Given the description of an element on the screen output the (x, y) to click on. 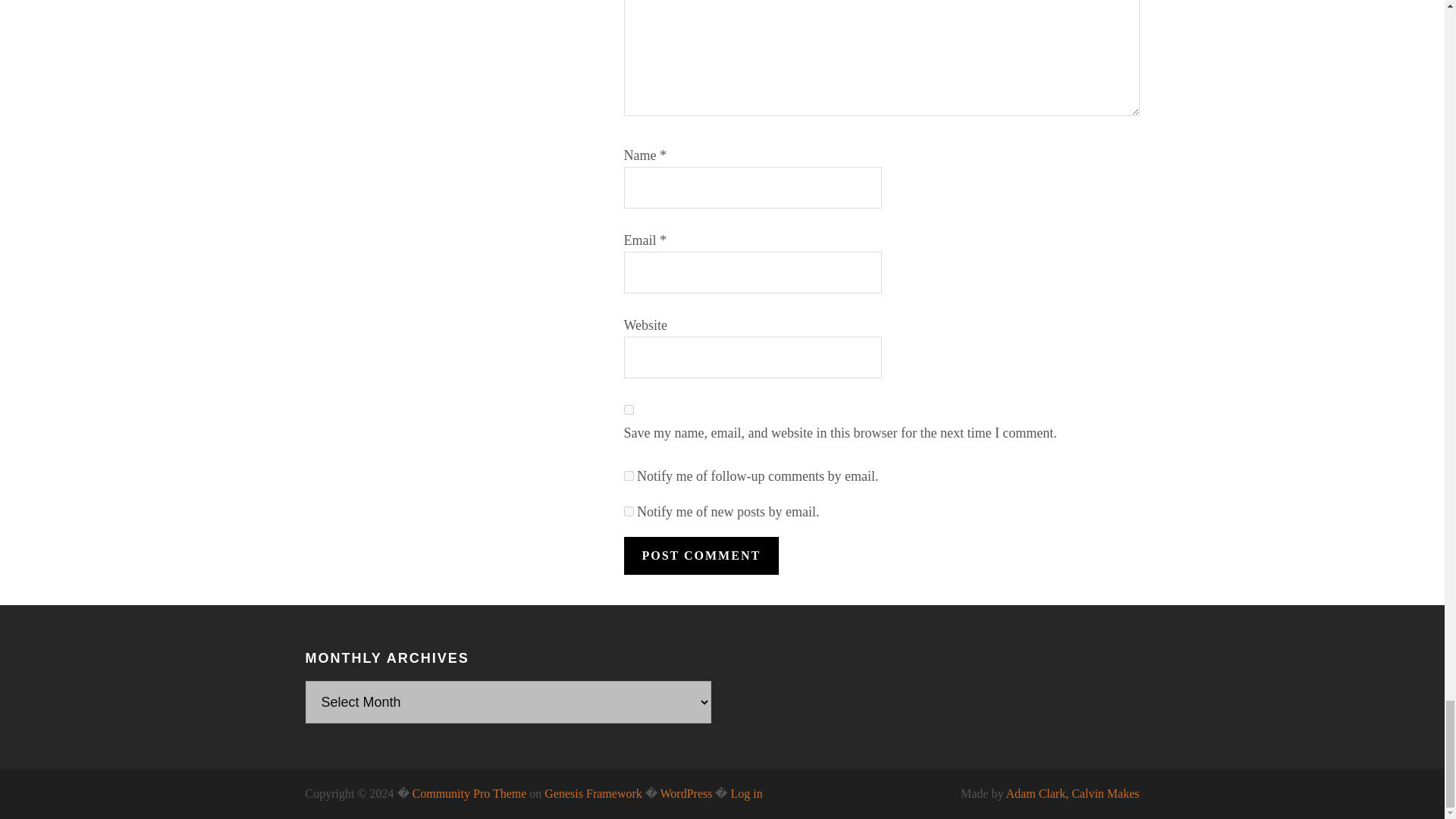
WordPress (685, 793)
subscribe (628, 475)
Genesis Framework (593, 793)
Log in (745, 793)
Community Pro Theme (469, 793)
Post Comment (700, 555)
subscribe (628, 511)
yes (628, 409)
Post Comment (700, 555)
